Given the description of an element on the screen output the (x, y) to click on. 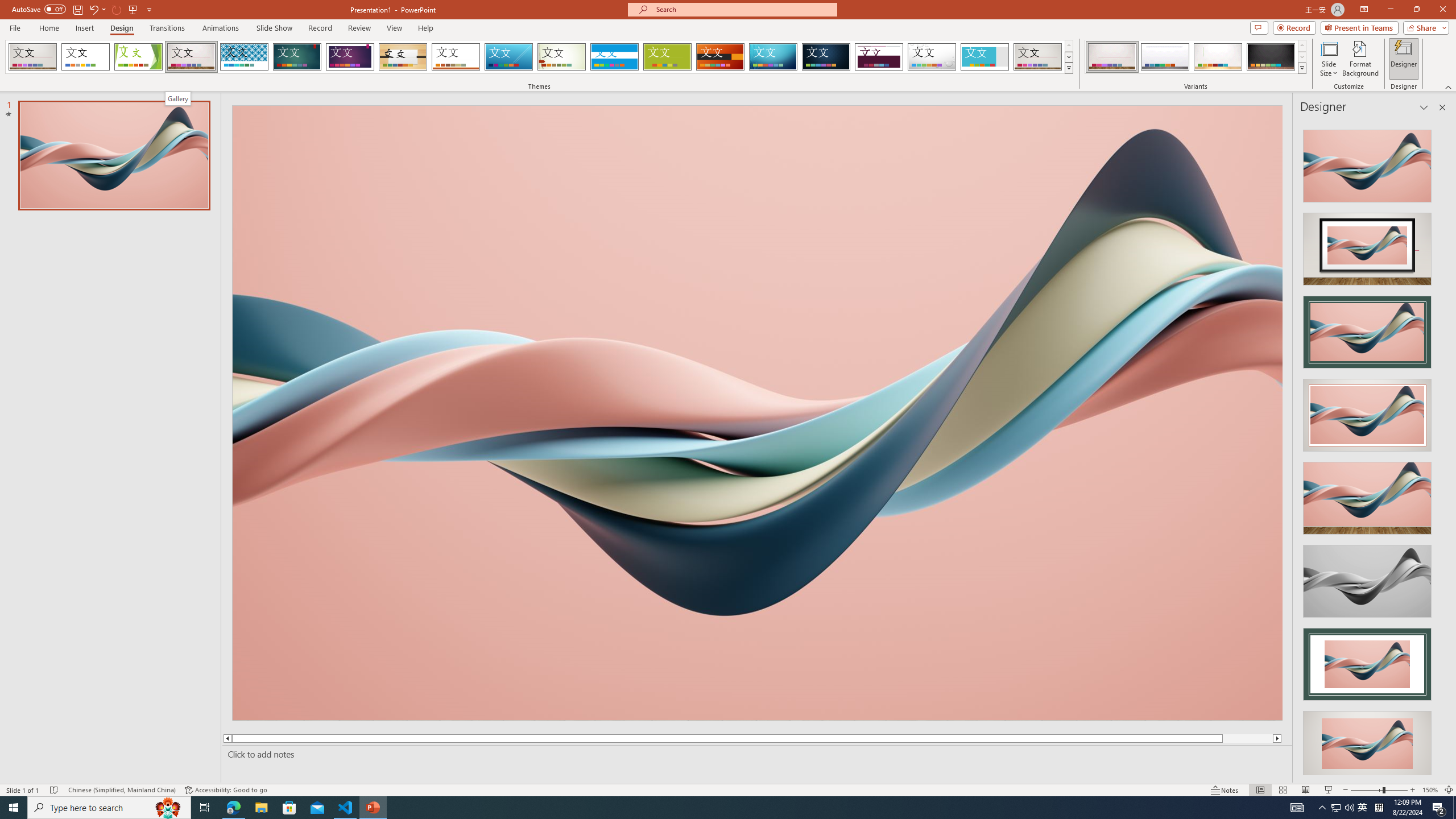
Frame (984, 56)
Gallery Variant 4 (1270, 56)
Berlin (720, 56)
Design Idea (1366, 743)
Variants (1301, 67)
